Given the description of an element on the screen output the (x, y) to click on. 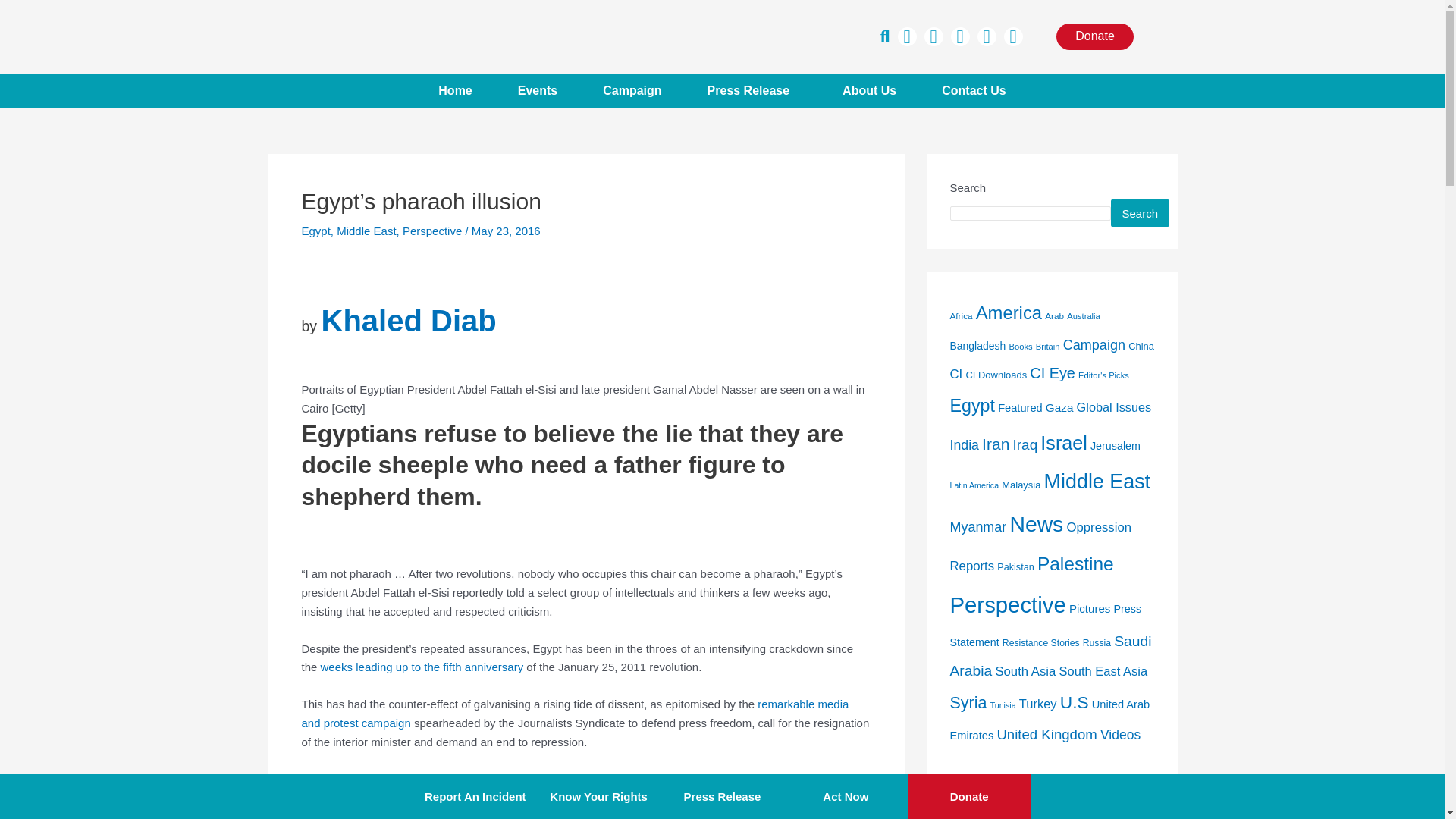
Facebook-f (907, 36)
Twitter (932, 36)
Instagram (959, 36)
Press Release (752, 90)
Contact Us (974, 90)
remarkable media and protest campaign (574, 713)
Campaign (631, 90)
ci-logo-100 (421, 36)
Street Children (633, 778)
Egypt (315, 230)
